Given the description of an element on the screen output the (x, y) to click on. 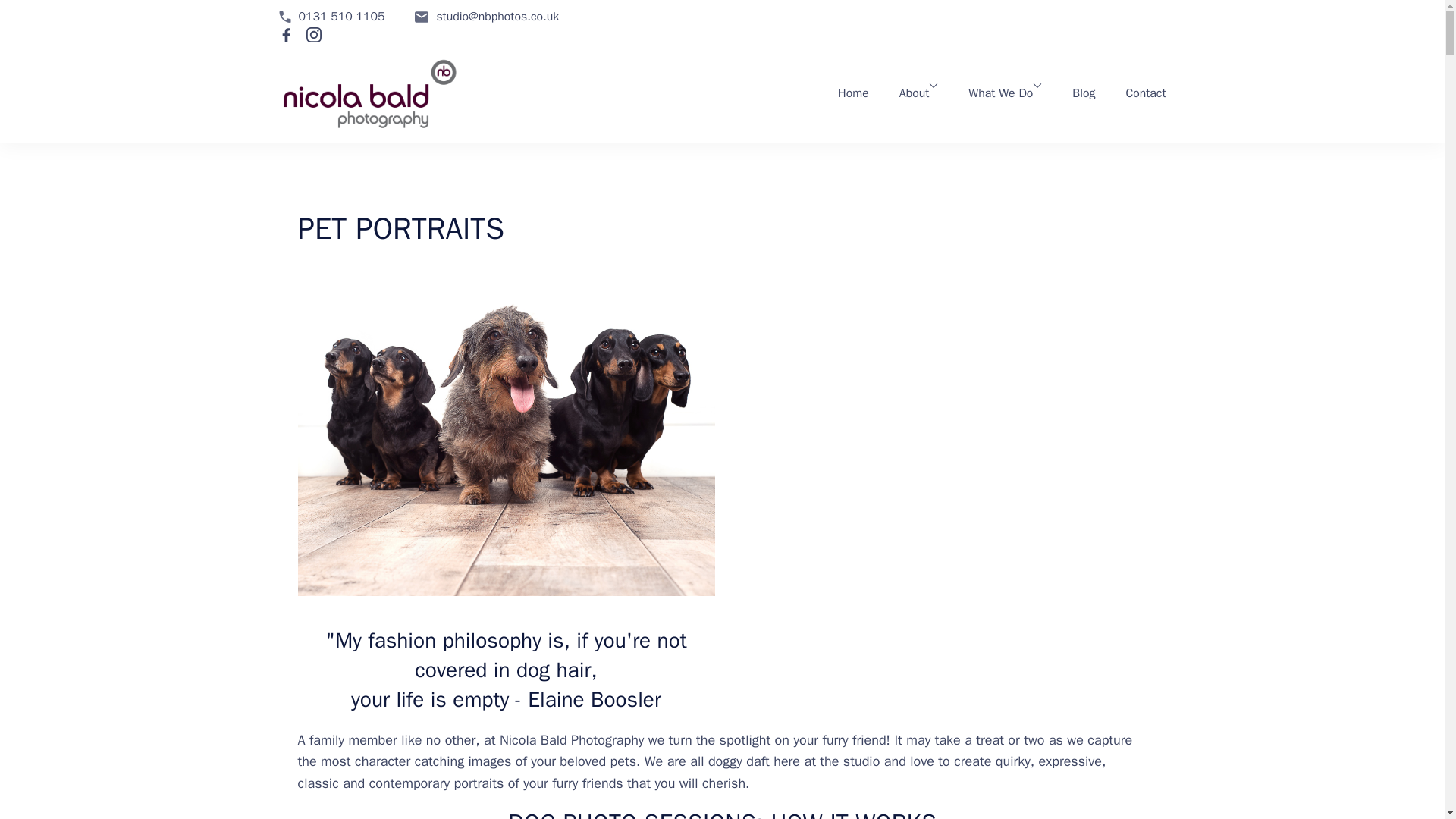
Nicola Bald Photography (582, 108)
About (914, 94)
Contact (1145, 94)
What We Do (1000, 94)
Home (852, 94)
0131 510 1105 (341, 17)
Blog (1082, 94)
